Given the description of an element on the screen output the (x, y) to click on. 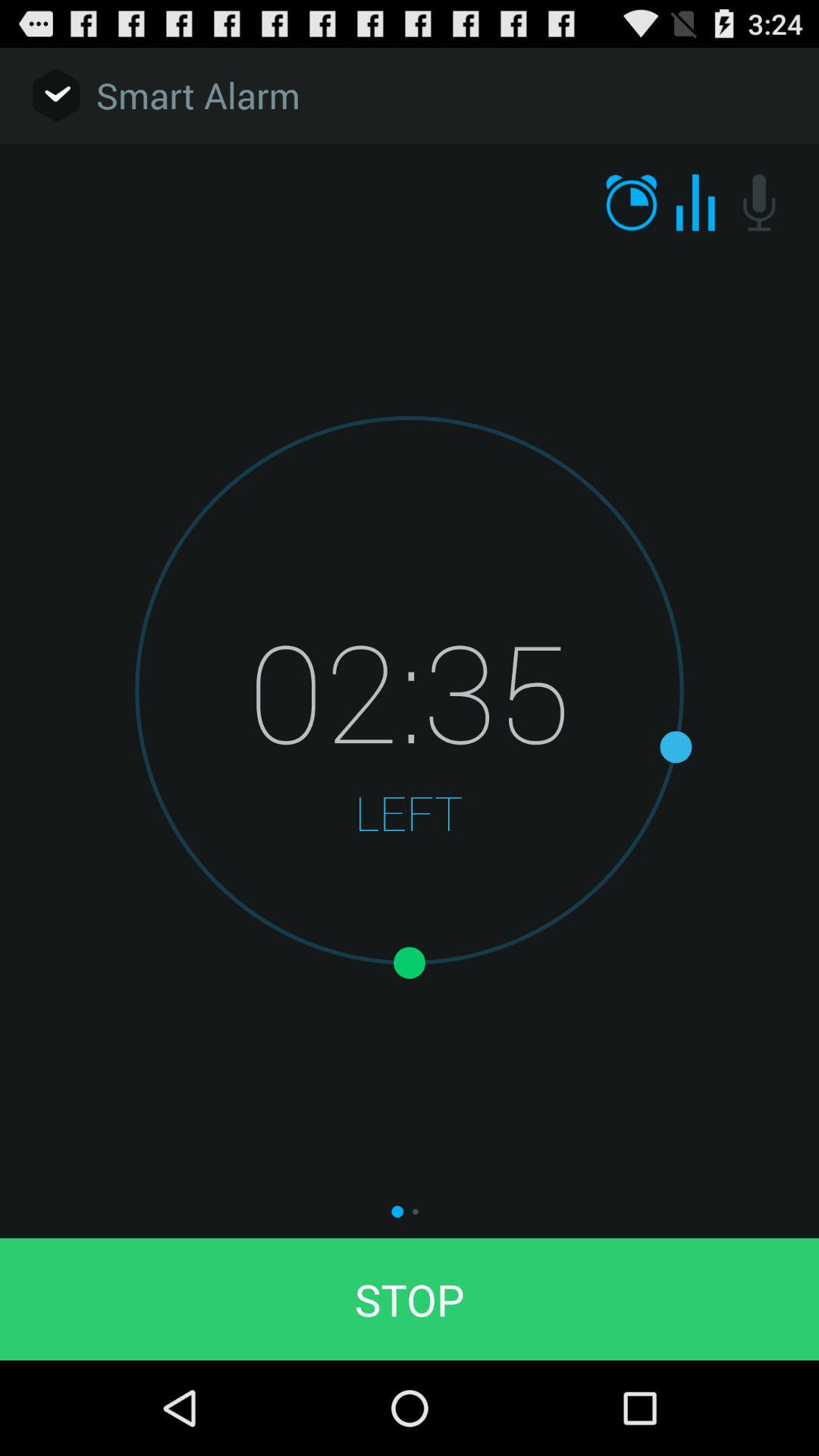
swipe until stop icon (409, 1299)
